Given the description of an element on the screen output the (x, y) to click on. 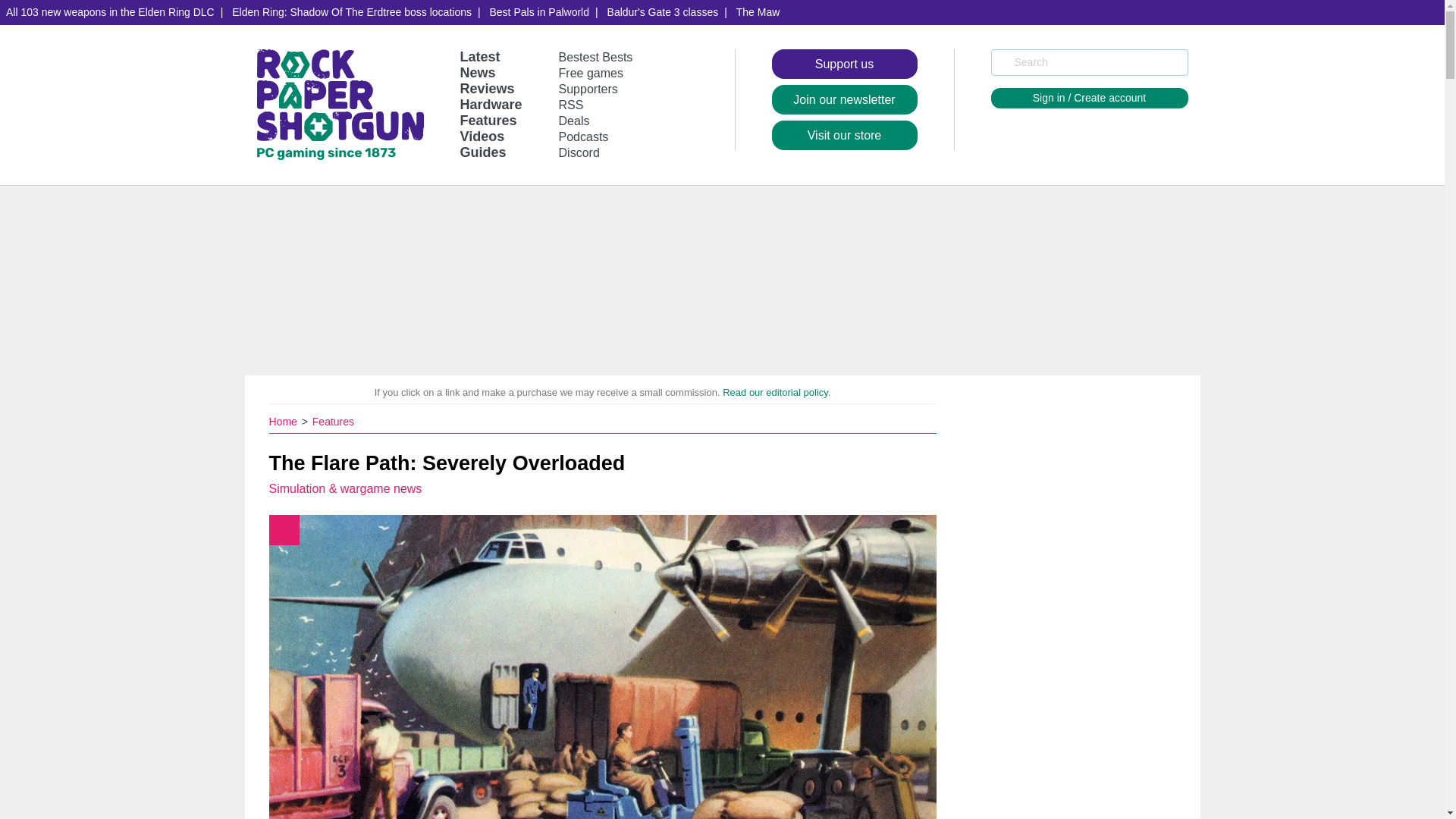
Elden Ring: Shadow Of The Erdtree boss locations (351, 12)
Support us (844, 63)
Features (488, 120)
Best Pals in Palworld (539, 12)
Baldur's Gate 3 classes (663, 12)
Home (283, 421)
Read our editorial policy (775, 392)
Best Pals in Palworld (539, 12)
Hardware (490, 104)
Guides (482, 151)
Deals (574, 120)
The Maw (758, 12)
Bestest Bests (596, 56)
Latest (479, 56)
The Maw (758, 12)
